Given the description of an element on the screen output the (x, y) to click on. 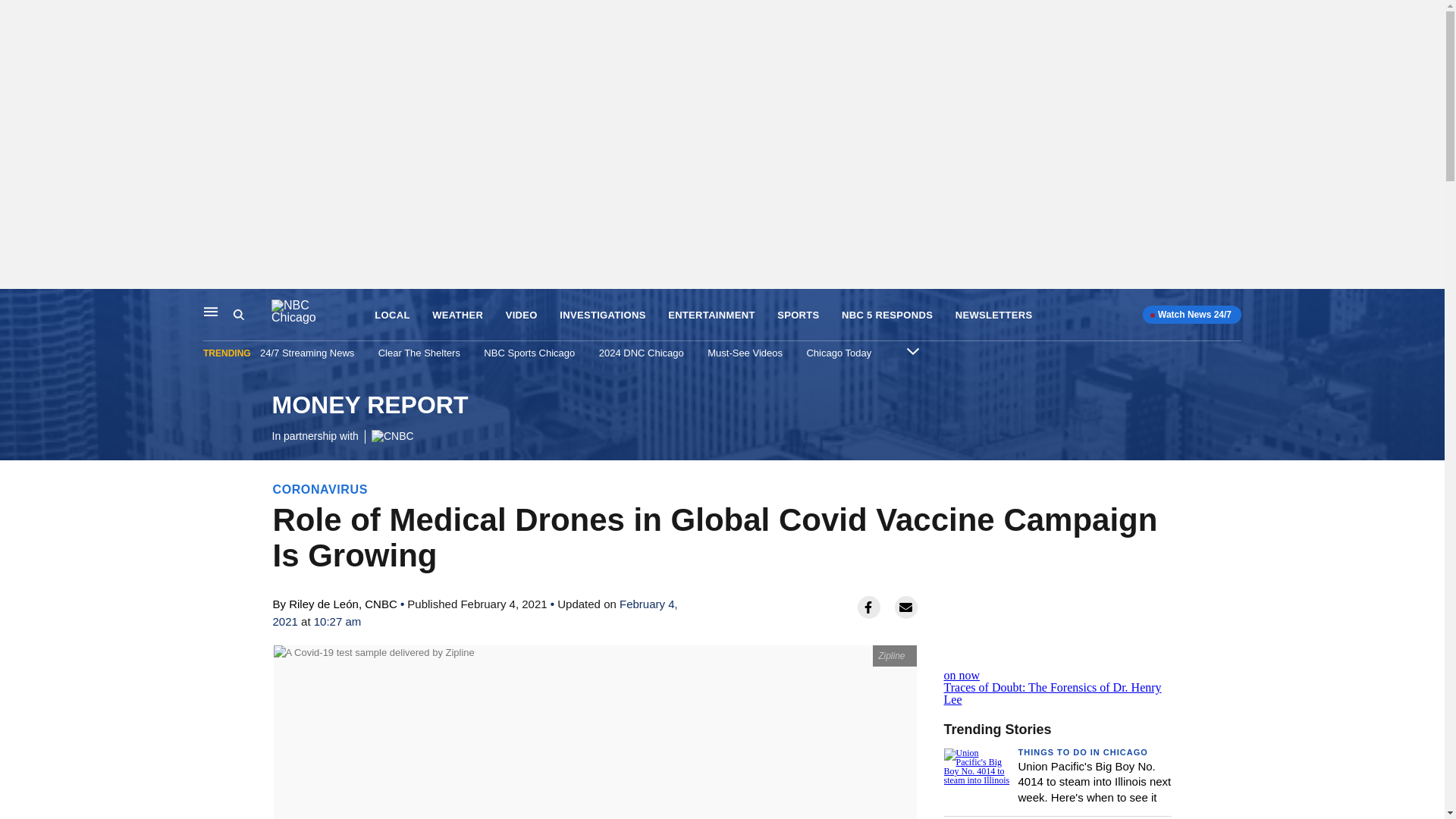
NBC 5 RESPONDS (887, 315)
Clear The Shelters (419, 352)
Chicago Today (838, 352)
Must-See Videos (745, 352)
NBC Sports Chicago (529, 352)
Main Navigation (368, 418)
SPORTS (210, 311)
NEWSLETTERS (797, 315)
INVESTIGATIONS (993, 315)
